Given the description of an element on the screen output the (x, y) to click on. 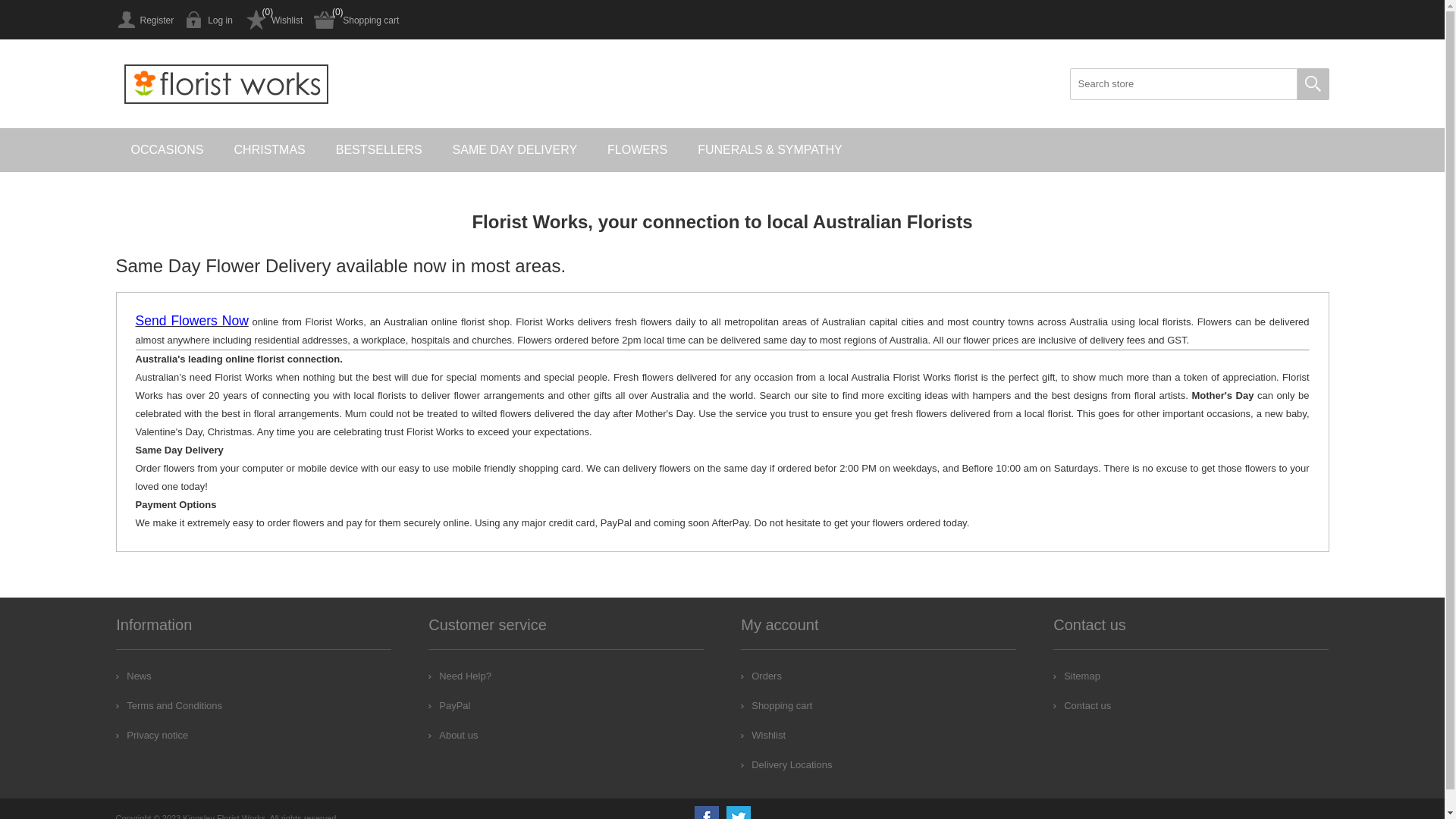
About us Element type: text (452, 734)
Orders Element type: text (760, 675)
News Element type: text (133, 675)
Register Element type: text (144, 19)
Search Element type: text (1312, 84)
PayPal Element type: text (449, 705)
CHRISTMAS Element type: text (269, 150)
Terms and Conditions Element type: text (169, 705)
Privacy notice Element type: text (152, 734)
Need Help? Element type: text (459, 675)
Shopping cart Element type: text (355, 19)
Shopping cart Element type: text (776, 705)
BESTSELLERS Element type: text (378, 150)
FLOWERS Element type: text (637, 150)
Wishlist Element type: text (273, 19)
Log in Element type: text (208, 19)
Contact us Element type: text (1081, 705)
Delivery Locations Element type: text (785, 764)
OCCASIONS Element type: text (166, 150)
Sitemap Element type: text (1076, 675)
FUNERALS & SYMPATHY Element type: text (769, 150)
Send Flowers Now Element type: text (190, 321)
SAME DAY DELIVERY Element type: text (515, 150)
Wishlist Element type: text (762, 734)
